Given the description of an element on the screen output the (x, y) to click on. 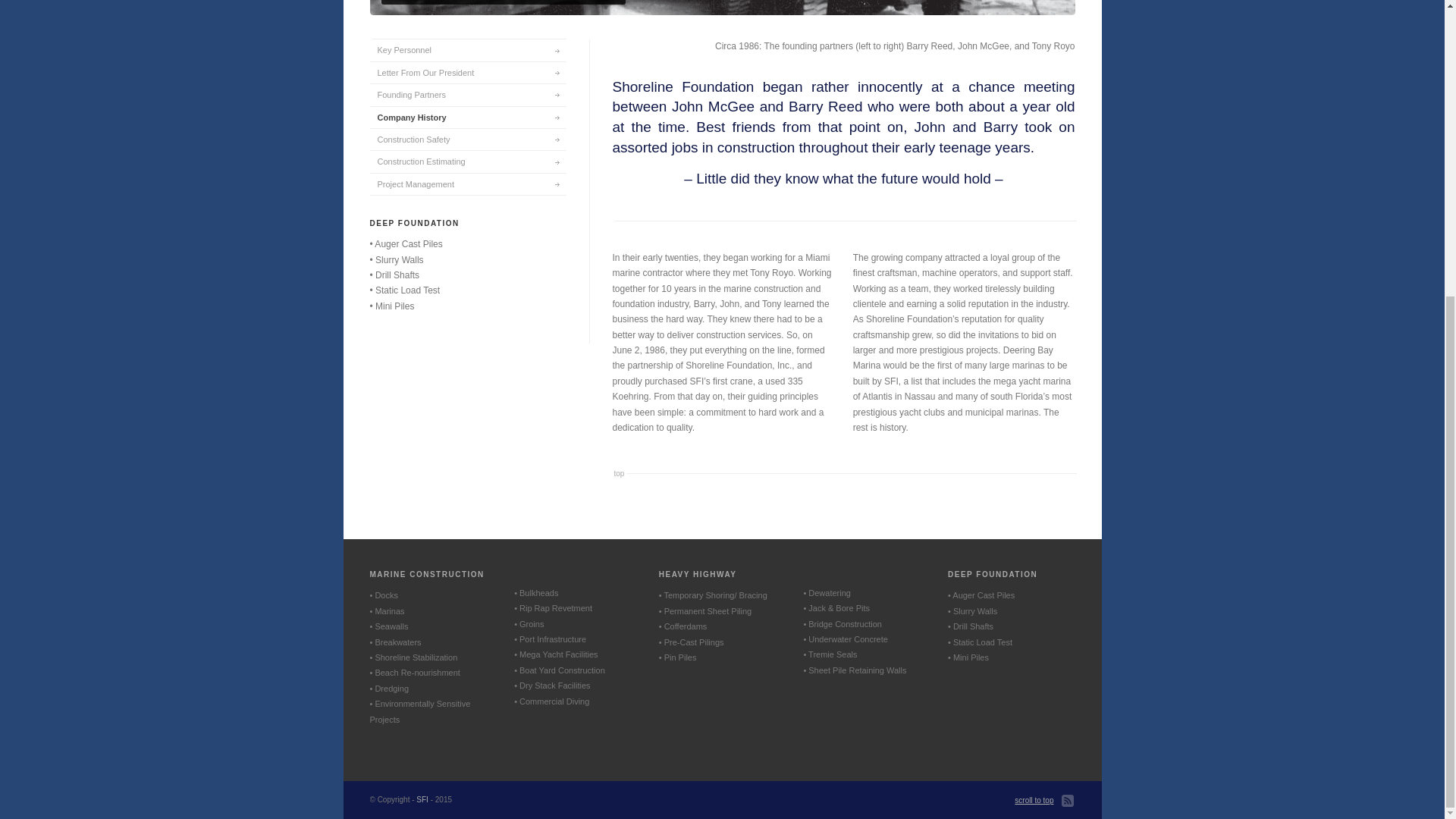
history (722, 7)
Construction Safety (467, 138)
Letter From Our President (467, 72)
top (620, 473)
Construction Estimating (467, 160)
SFI (422, 799)
Company History (467, 116)
Project Management (467, 183)
Key Personnel (467, 49)
Founding Partners (467, 94)
